Given the description of an element on the screen output the (x, y) to click on. 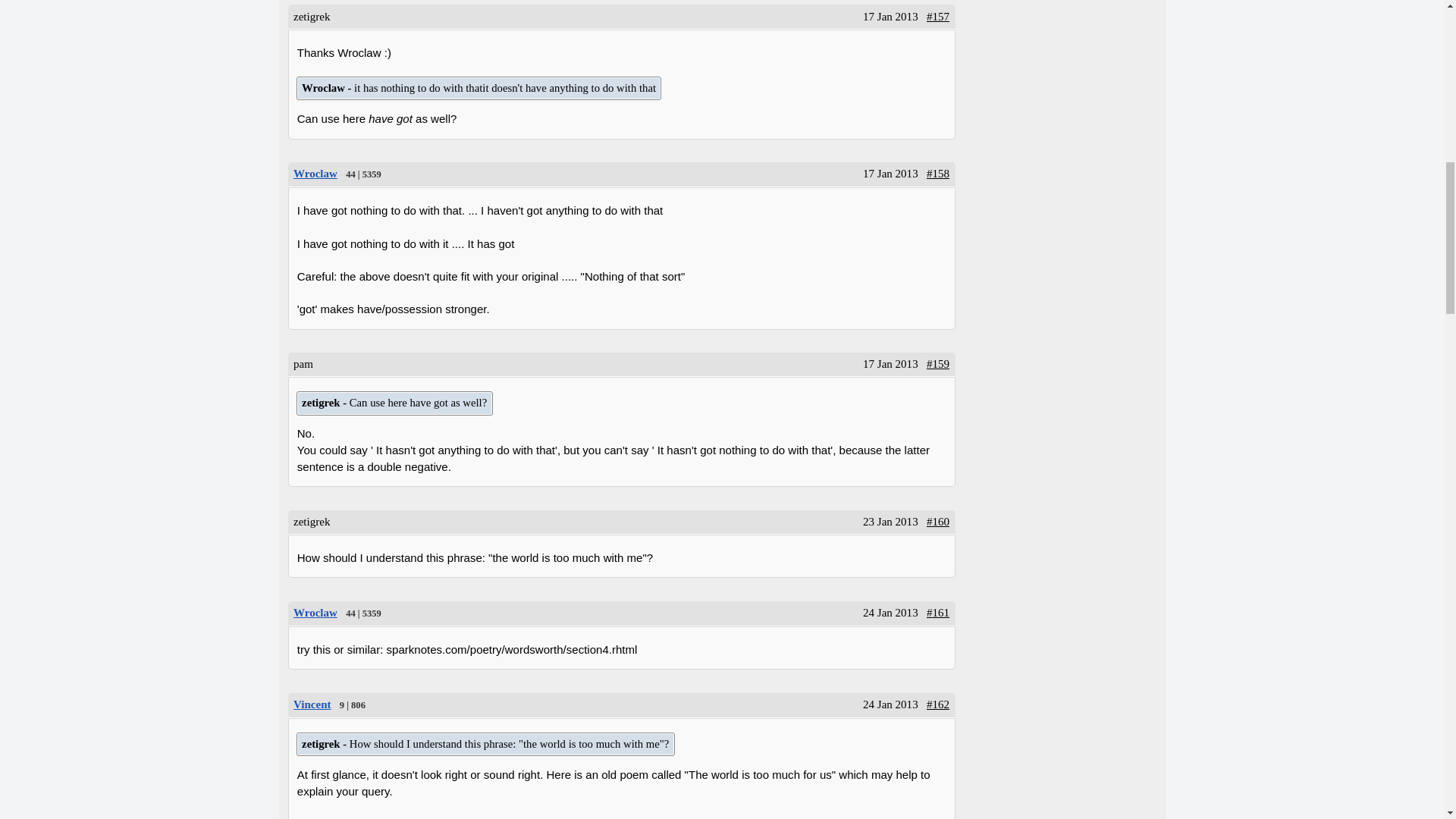
Wroclaw (315, 612)
Vincent (315, 173)
Wroclaw (312, 704)
zetigrek (479, 87)
Wroclaw (394, 403)
